Given the description of an element on the screen output the (x, y) to click on. 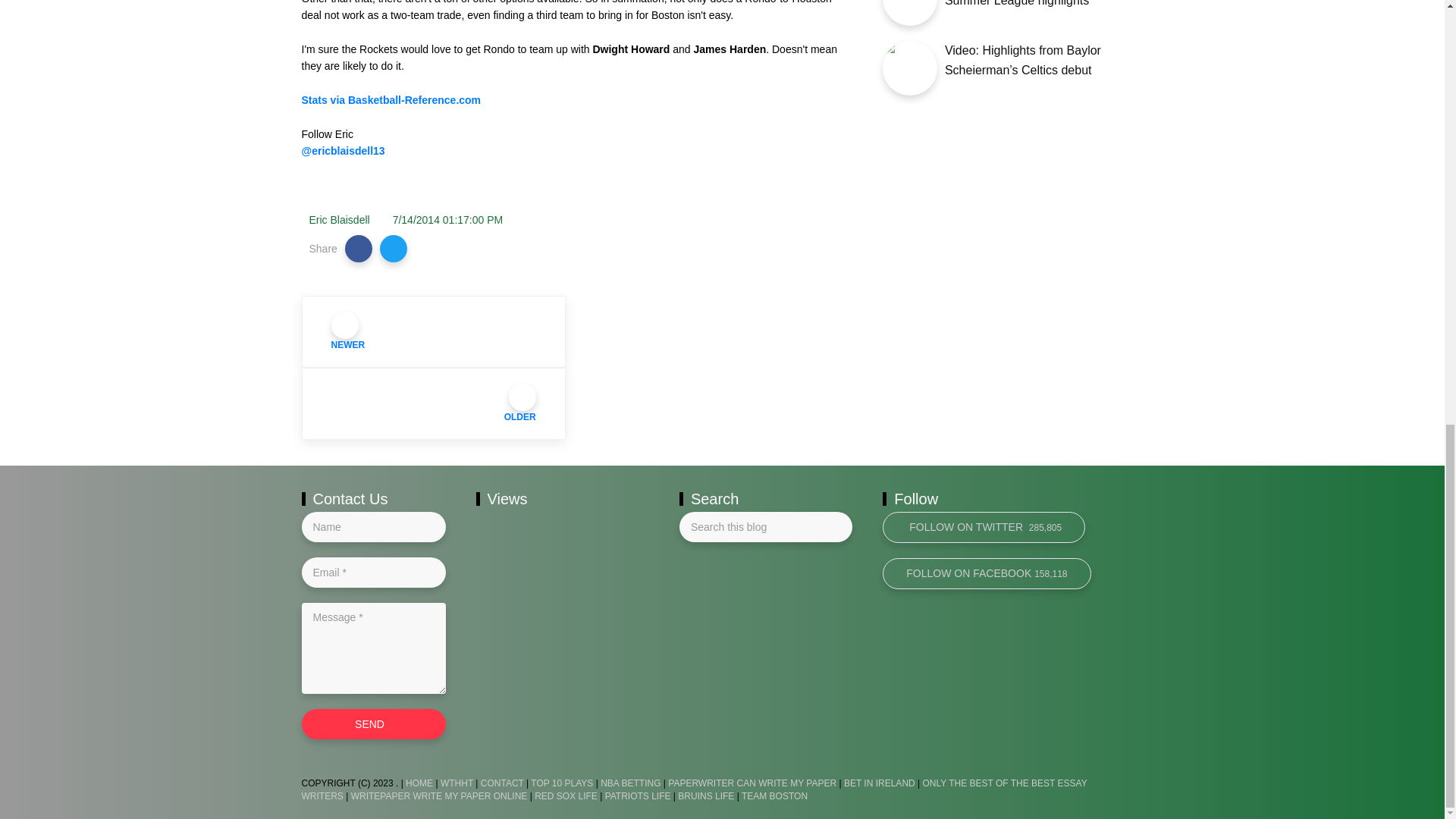
NEWER (433, 331)
Share to Twitter (393, 248)
OLDER (433, 403)
Eric Blaisdell (338, 219)
Stats via Basketball-Reference.com (391, 100)
author profile (338, 219)
permanent link (448, 219)
Share to Facebook (358, 248)
